Given the description of an element on the screen output the (x, y) to click on. 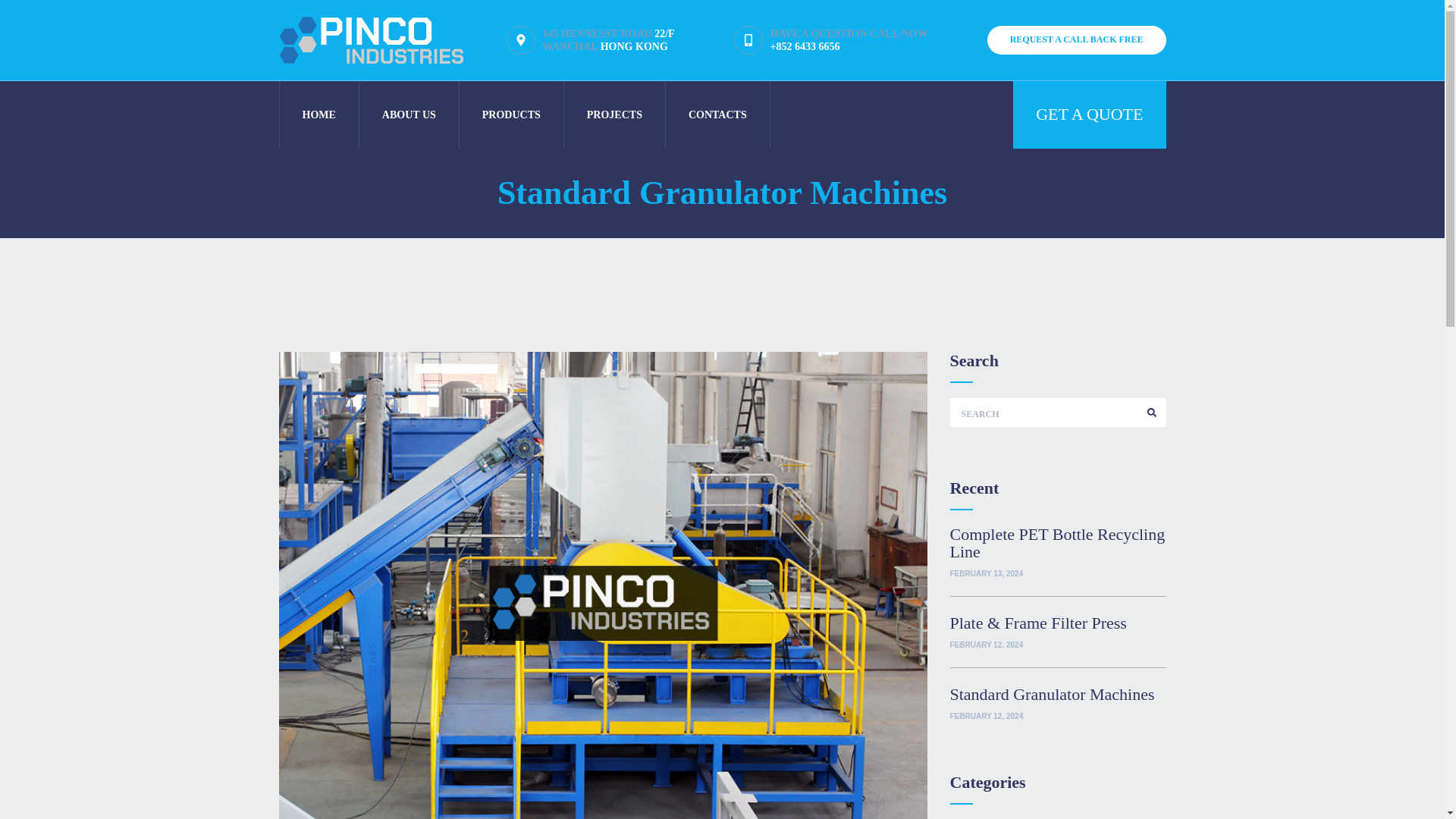
REQUEST A CALL BACK FREE (1076, 39)
PRODUCTS (511, 114)
HOME (318, 114)
ABOUT US (408, 114)
Complete PET Bottle Recycling Line (1057, 542)
Standard Granulator Machines (1057, 693)
SEARCH (1151, 412)
CONTACTS (717, 114)
PROJECTS (614, 114)
GET A QUOTE (1089, 114)
